Given the description of an element on the screen output the (x, y) to click on. 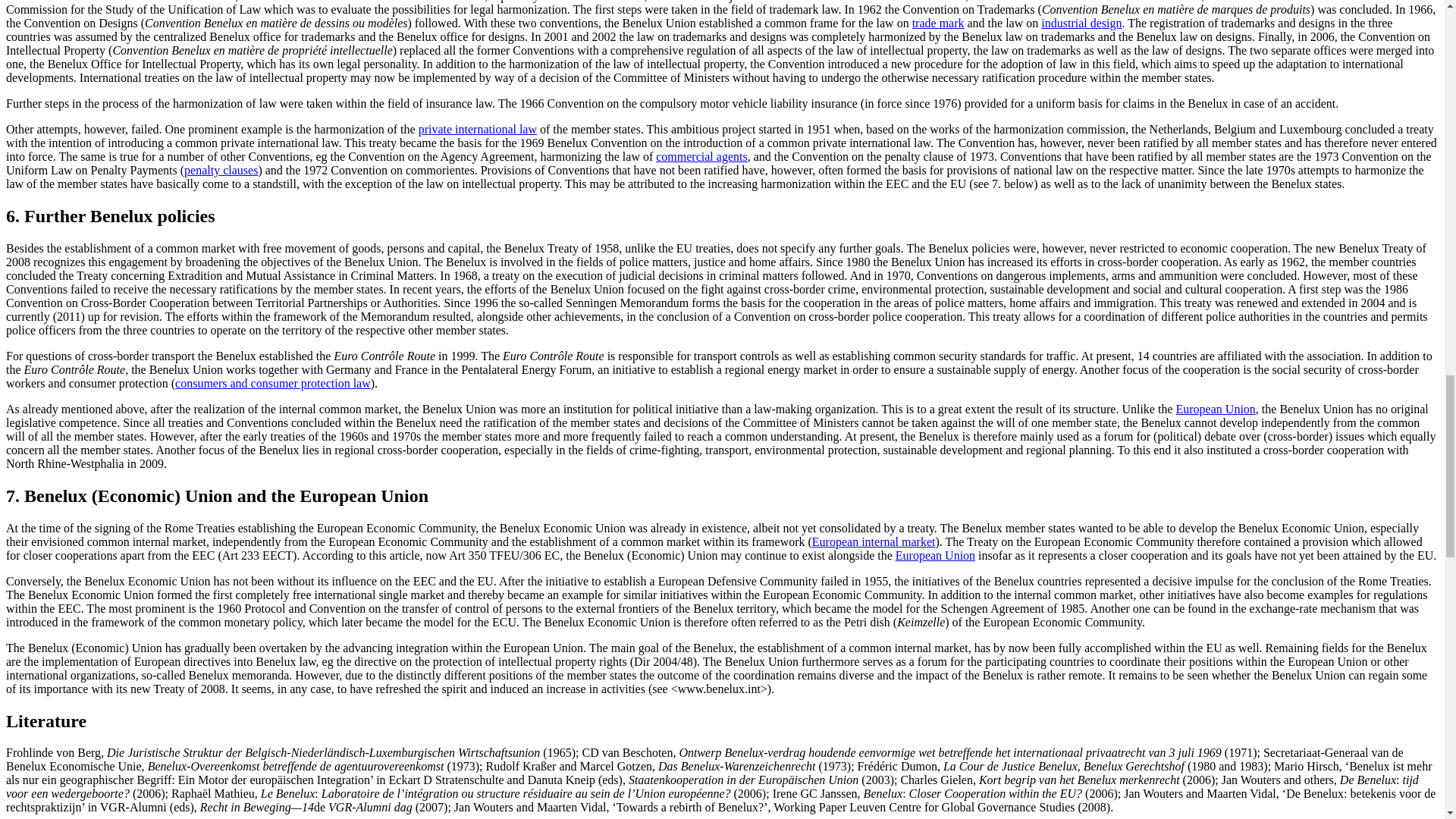
European Union (1215, 408)
European internal market (874, 541)
Industrial Design Law (1081, 22)
industrial design (1081, 22)
trade mark (937, 22)
Trade Mark Law (937, 22)
consumers and consumer protection law (272, 382)
commercial agents (701, 155)
penalty clauses (220, 169)
Penalty Clauses (220, 169)
European Union (935, 554)
private international law (478, 128)
Commercial Agents (701, 155)
